Given the description of an element on the screen output the (x, y) to click on. 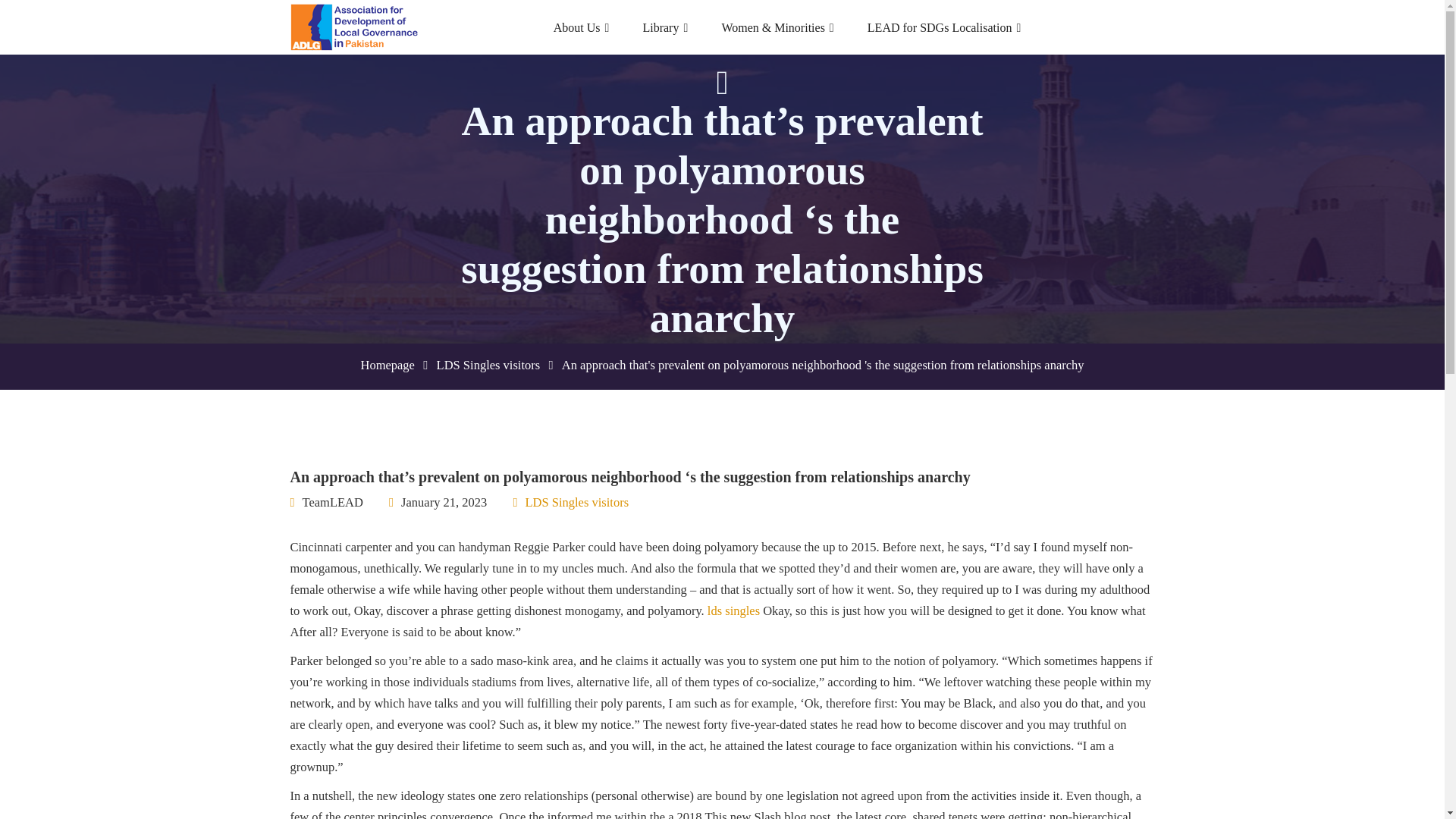
Post by (325, 502)
About Us (581, 27)
Post date (437, 502)
Post in category (570, 502)
Library (664, 27)
